Given the description of an element on the screen output the (x, y) to click on. 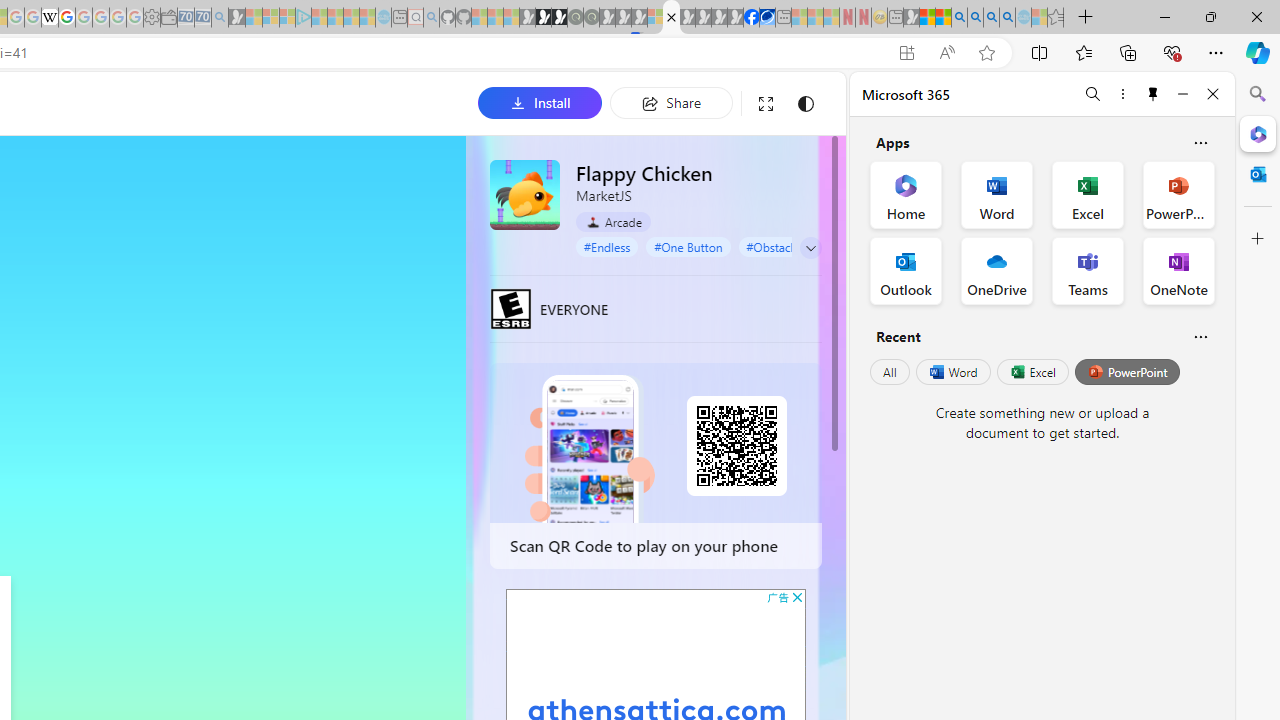
Home Office App (906, 194)
Arcade (613, 222)
Target page - Wikipedia (49, 17)
Excel Office App (1087, 194)
Word (952, 372)
Teams Office App (1087, 270)
PowerPoint Office App (1178, 194)
#Obstacle Course (792, 246)
